Given the description of an element on the screen output the (x, y) to click on. 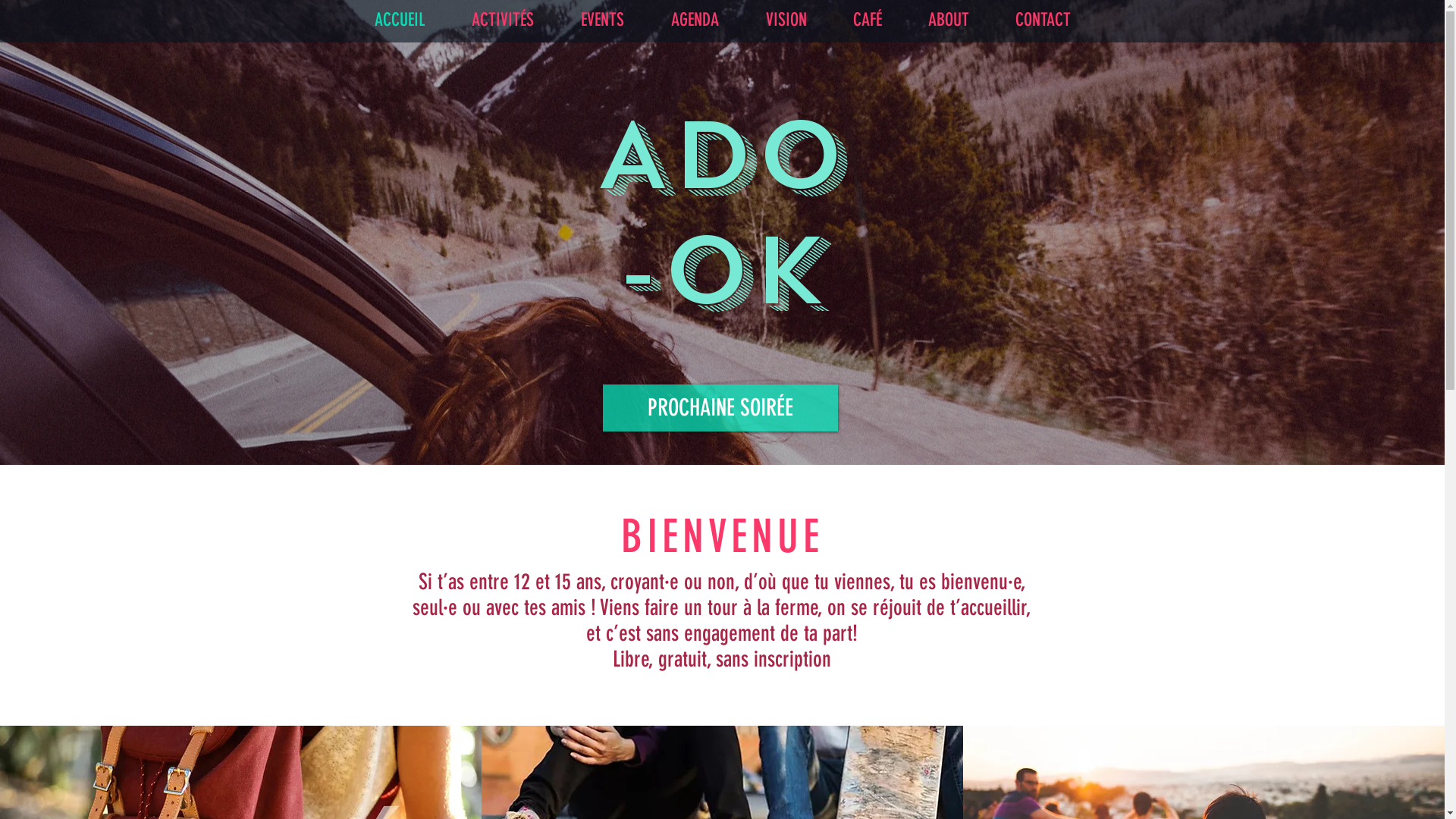
VISION Element type: text (785, 19)
AGENDA Element type: text (694, 19)
CONTACT Element type: text (1042, 19)
ACCUEIL Element type: text (399, 19)
ABOUT Element type: text (947, 19)
EVENTS Element type: text (602, 19)
